Given the description of an element on the screen output the (x, y) to click on. 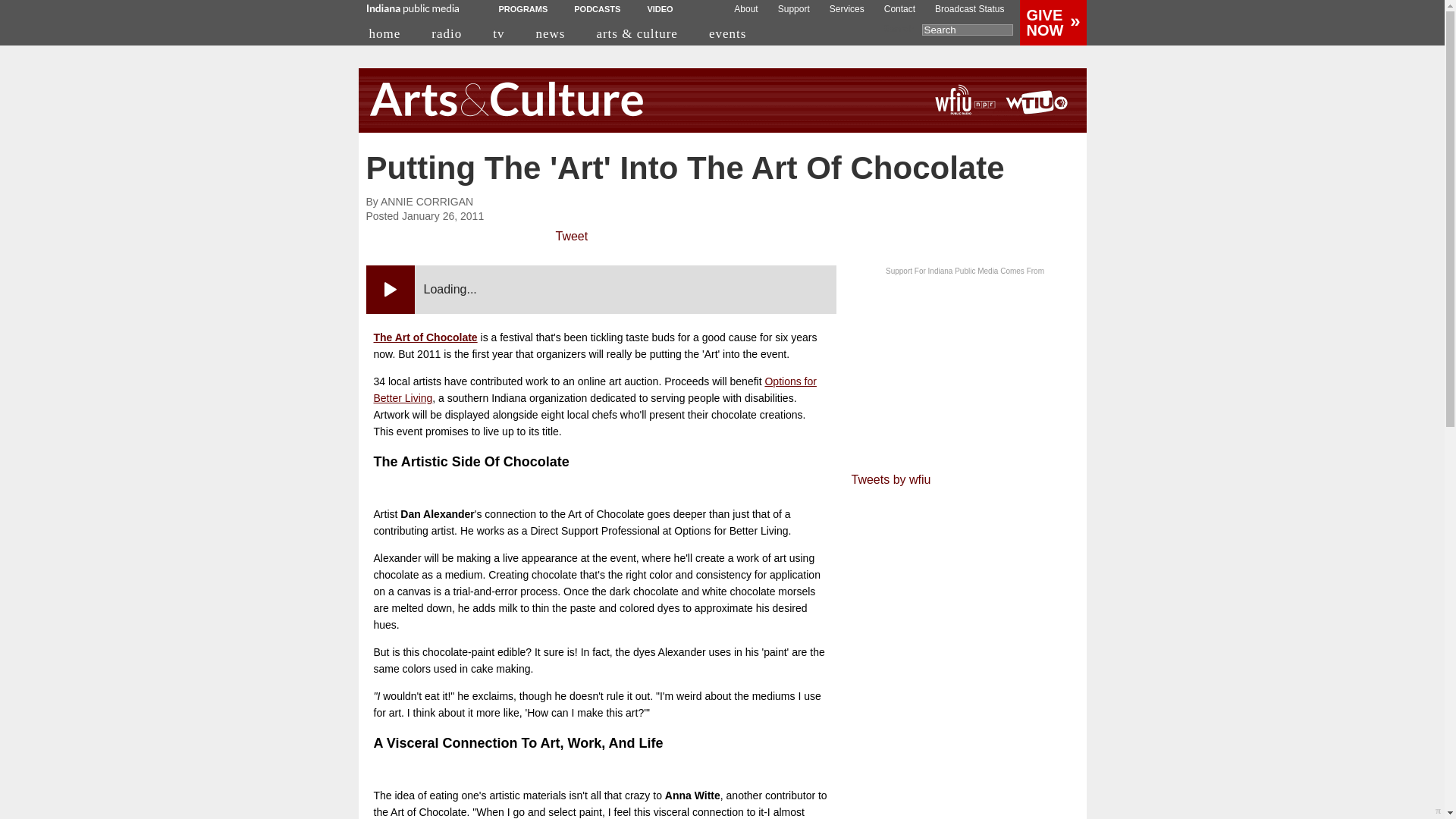
Options For Better Living (593, 389)
The Art of Chocolate (424, 337)
Search (967, 30)
